Given the description of an element on the screen output the (x, y) to click on. 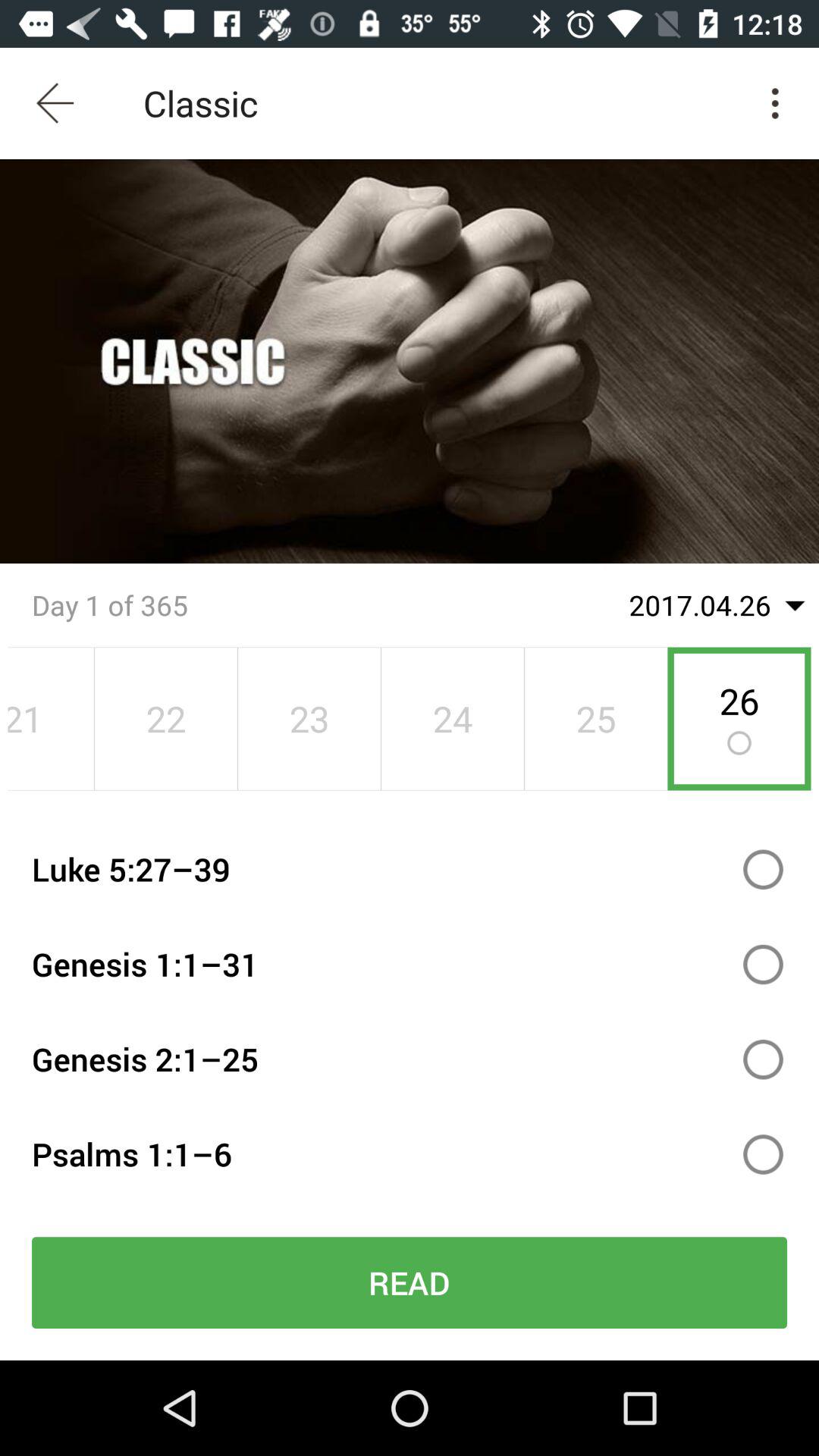
click select (763, 1154)
